Given the description of an element on the screen output the (x, y) to click on. 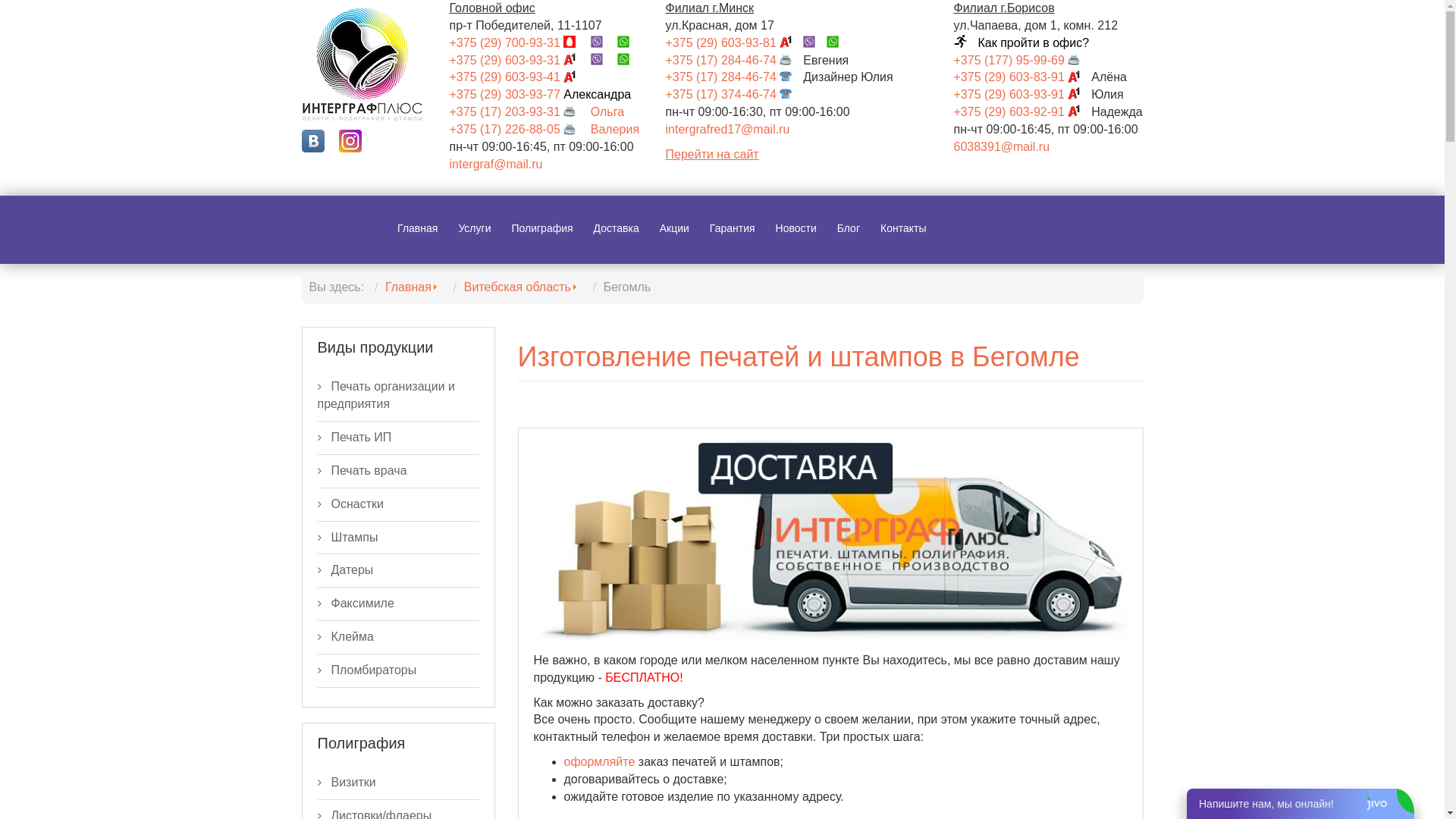
+375 (29) 603-93-91  Element type: text (1022, 93)
WhatsApp Element type: hover (838, 42)
intergraf@mail.ru Element type: text (495, 163)
+375 (17) 374-46-74  Element type: text (734, 93)
+375 (29) 700-93-31  Element type: text (517, 42)
WhatsApp Element type: hover (628, 42)
+375 (29) 603-93-81  Element type: text (734, 42)
6038391@mail.ru Element type: text (1001, 146)
intergrafred17@mail.ru Element type: text (727, 128)
+375 (17) 284-46-74  Element type: text (734, 59)
+375 (17) 203-93-31  Element type: text (517, 111)
+375 (29) 603-93-31  Element type: text (517, 59)
+375 (29) 603-83-91  Element type: text (1022, 76)
+375 (29) 603-92-91  Element type: text (1022, 111)
+375 (17) 226-88-05  Element type: text (517, 128)
WhatsApp Element type: hover (628, 59)
+375 (29) 603-93-41  Element type: text (517, 76)
+375 (17) 284-46-74  Element type: text (734, 76)
+375 (177) 95-99-69  Element type: text (1022, 59)
